Given the description of an element on the screen output the (x, y) to click on. 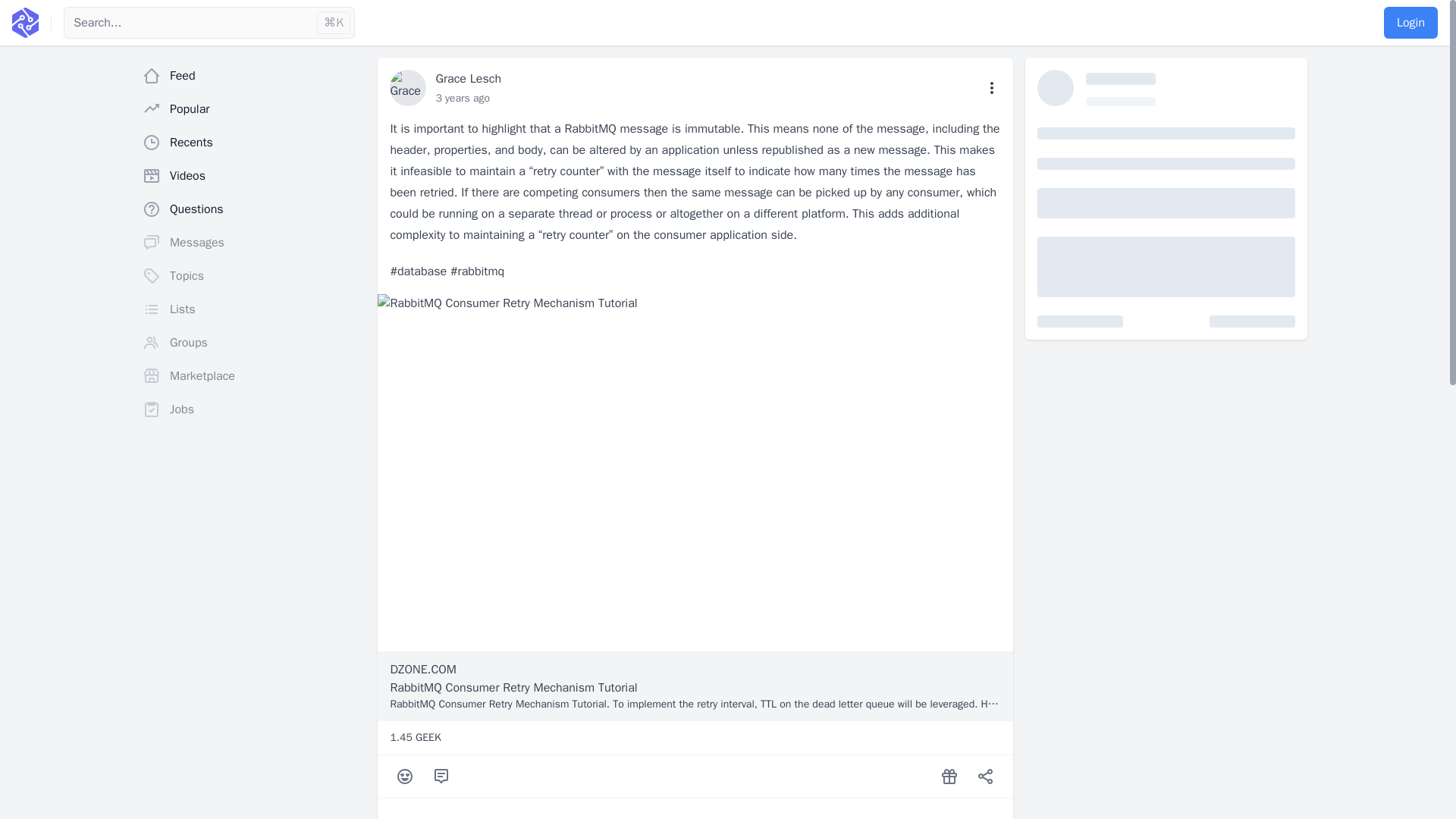
Questions (253, 209)
Grace Lesch (467, 78)
Send me a coffee (948, 776)
3 years ago (462, 97)
Videos (253, 175)
Feed (253, 75)
Write a comment (441, 776)
Login (1411, 22)
Like (405, 776)
Recents (253, 142)
